Given the description of an element on the screen output the (x, y) to click on. 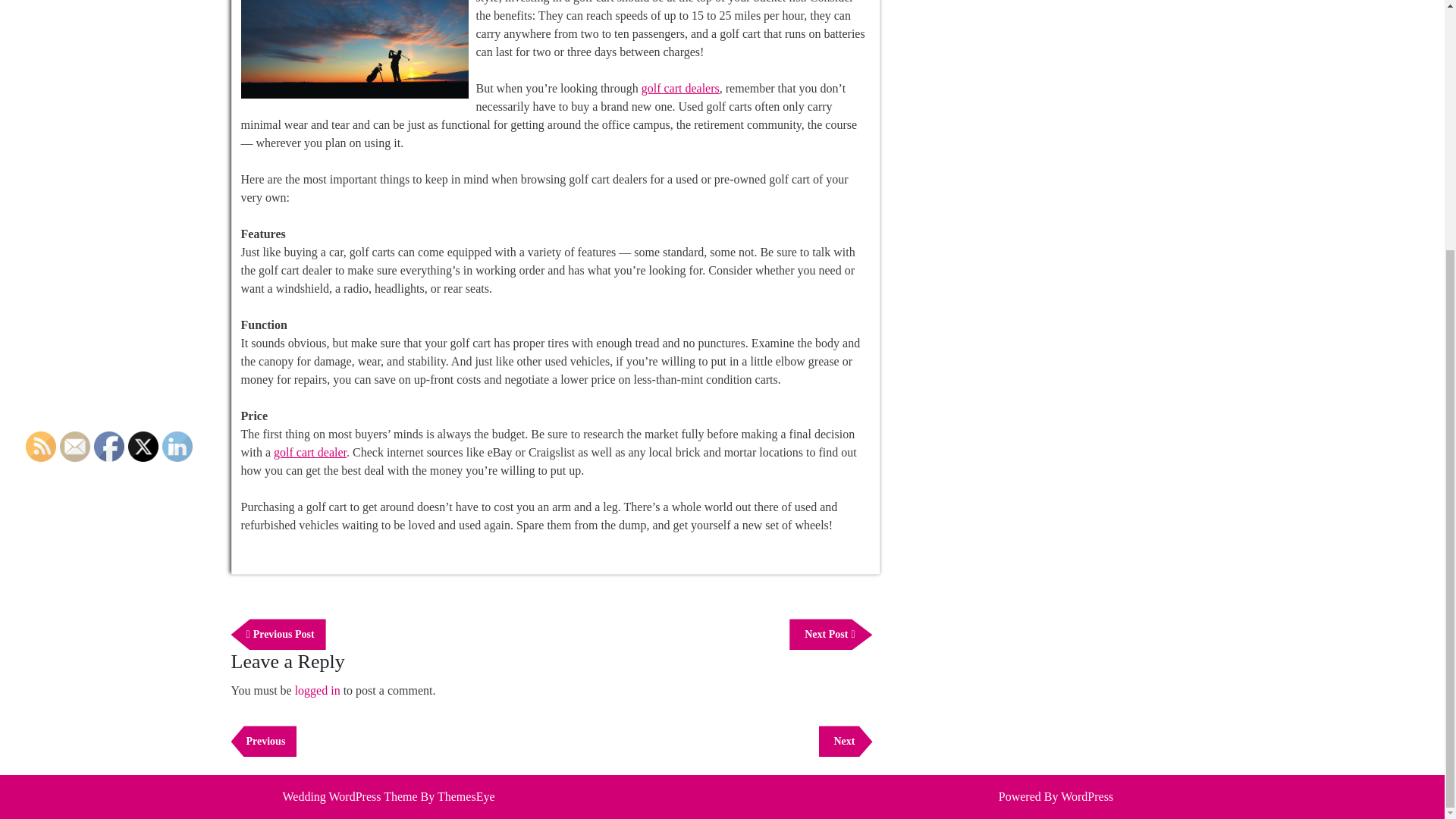
RSS (277, 634)
Facebook (41, 446)
golf cart dealer (108, 446)
Golf carts (309, 451)
Follow by Email (680, 88)
logged in (263, 740)
Wedding WordPress Theme (74, 446)
Utility carts (317, 689)
LinkedIn (349, 796)
Twitter (309, 451)
golf cart dealers (830, 634)
